Given the description of an element on the screen output the (x, y) to click on. 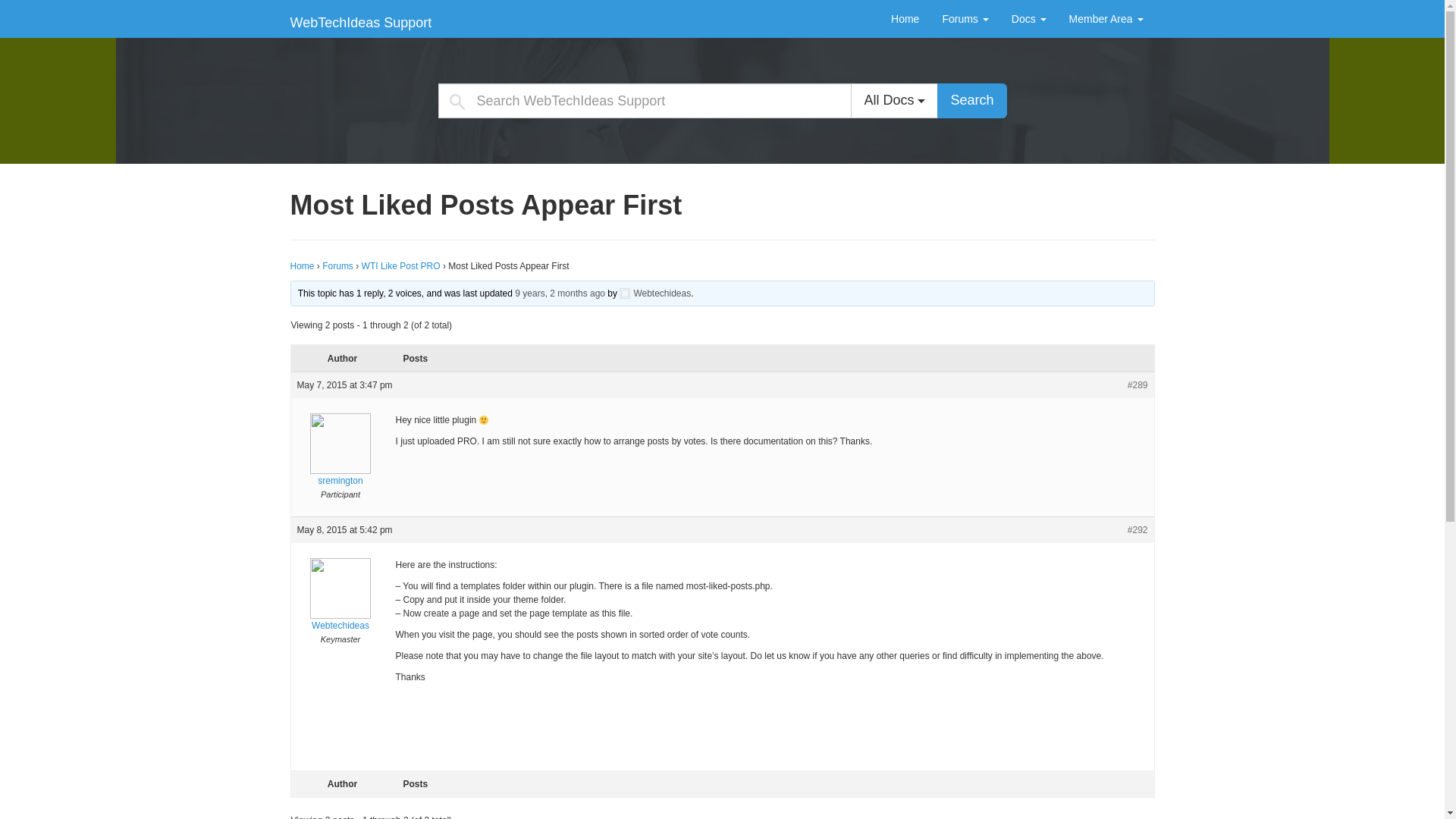
Home (904, 18)
Webtechideas (340, 605)
WTI Like Post PRO (401, 266)
Member Area (1106, 18)
View sremington's profile (340, 461)
WebTechIdeas Support (361, 18)
9 years, 2 months ago (560, 293)
Forums (337, 266)
Forums (964, 18)
All Docs (893, 100)
sremington (340, 461)
Home (301, 266)
View Webtechideas's profile (340, 605)
Docs (1029, 18)
Webtechideas (655, 293)
